Given the description of an element on the screen output the (x, y) to click on. 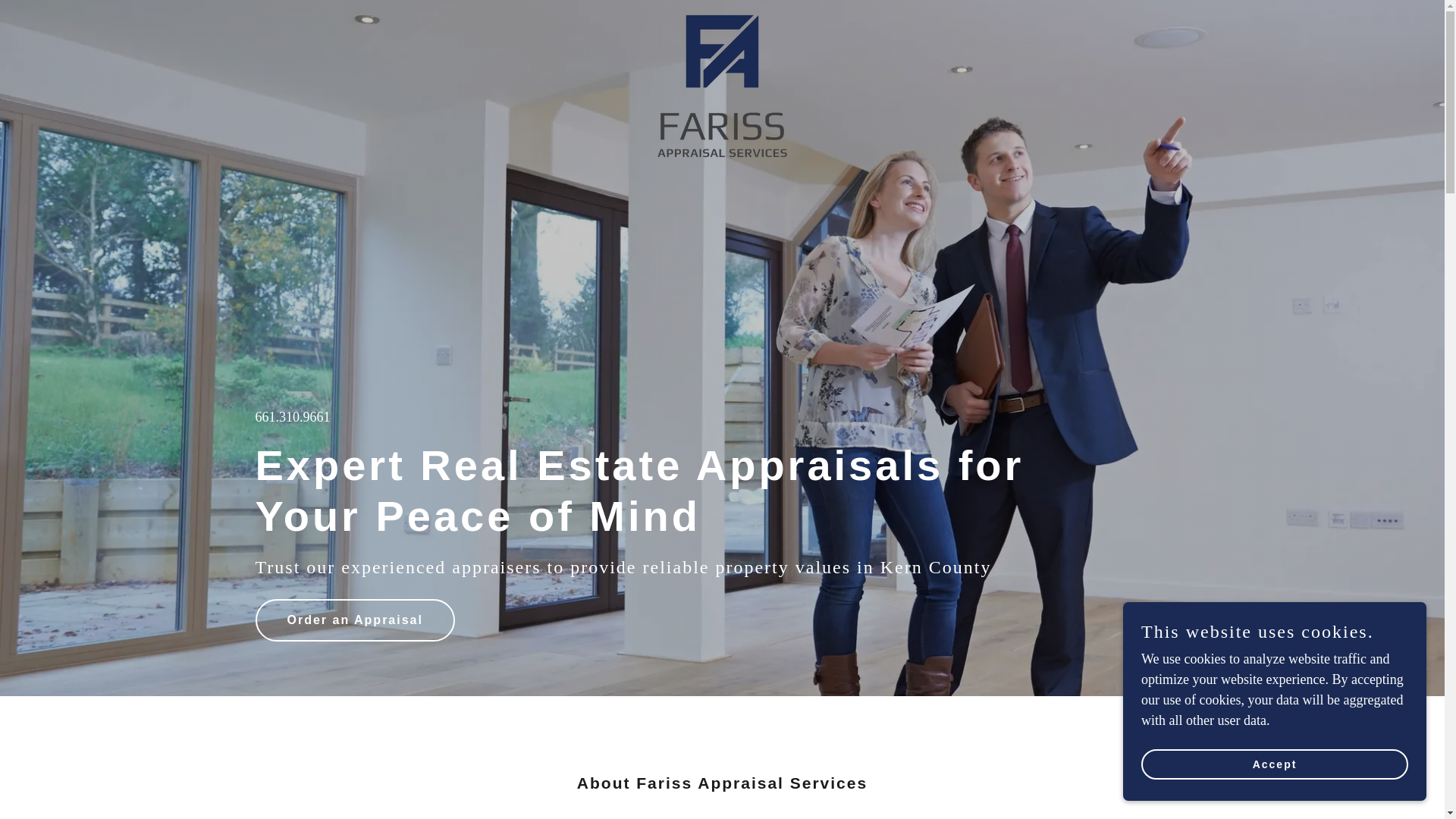
Order an Appraisal (354, 619)
661.310.9661 (292, 417)
Fariss Appraisal Services (722, 18)
Accept (1274, 764)
